Given the description of an element on the screen output the (x, y) to click on. 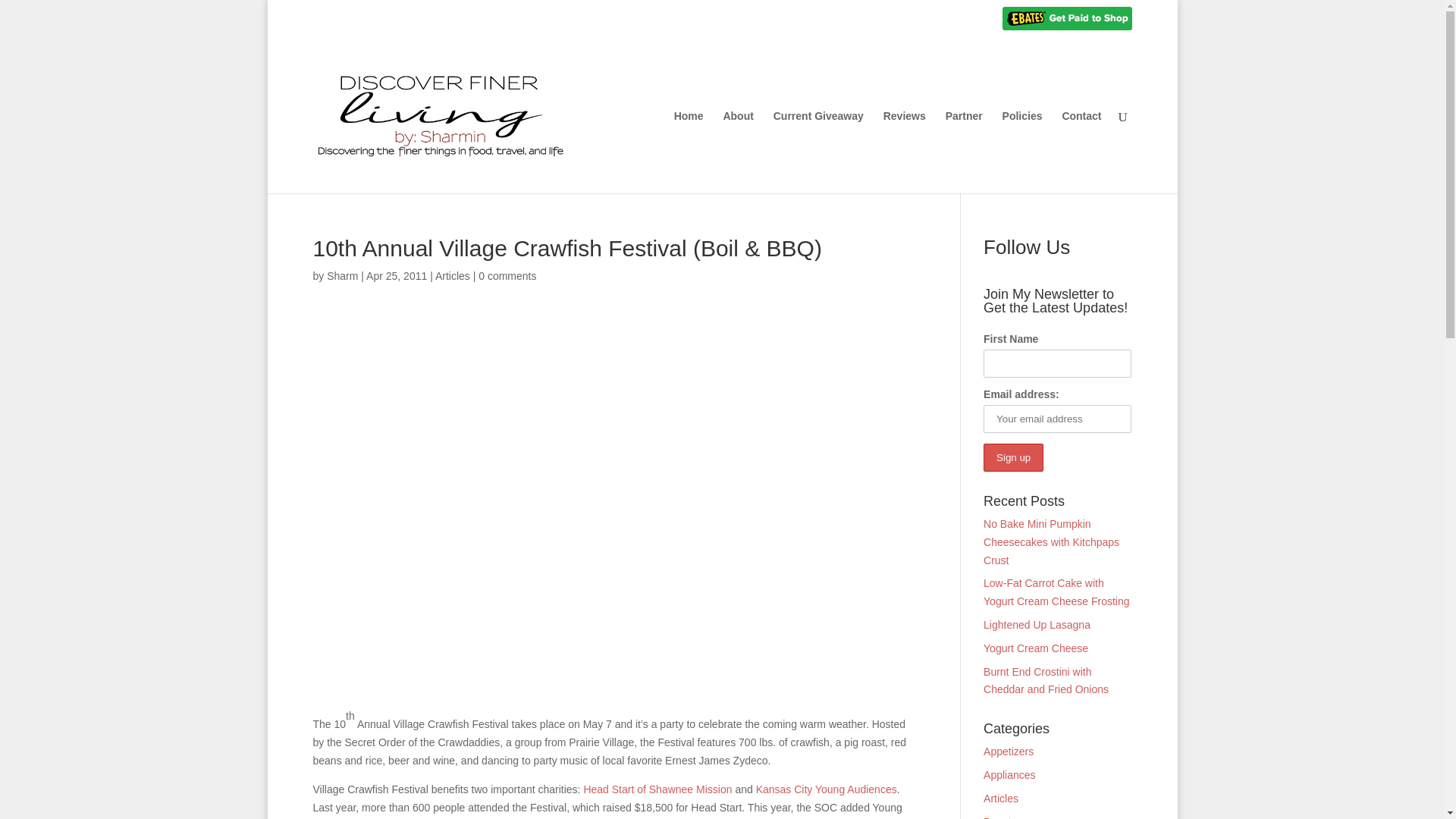
Kansas City Young Audiences (825, 788)
Sign up (1013, 457)
Posts by Sharm (342, 275)
Lightened Up Lasagna (1037, 624)
Ebates Coupons and Cash Back (1067, 22)
Sign up (1013, 457)
Articles (452, 275)
Current Giveaway (818, 151)
Appliances (1009, 775)
Head Start of Shawnee Mission (657, 788)
0 comments (507, 275)
Sharm (342, 275)
No Bake Mini Pumpkin Cheesecakes with Kitchpaps Crust (1051, 541)
Articles (1000, 798)
Low-Fat Carrot Cake with Yogurt Cream Cheese Frosting (1056, 592)
